Given the description of an element on the screen output the (x, y) to click on. 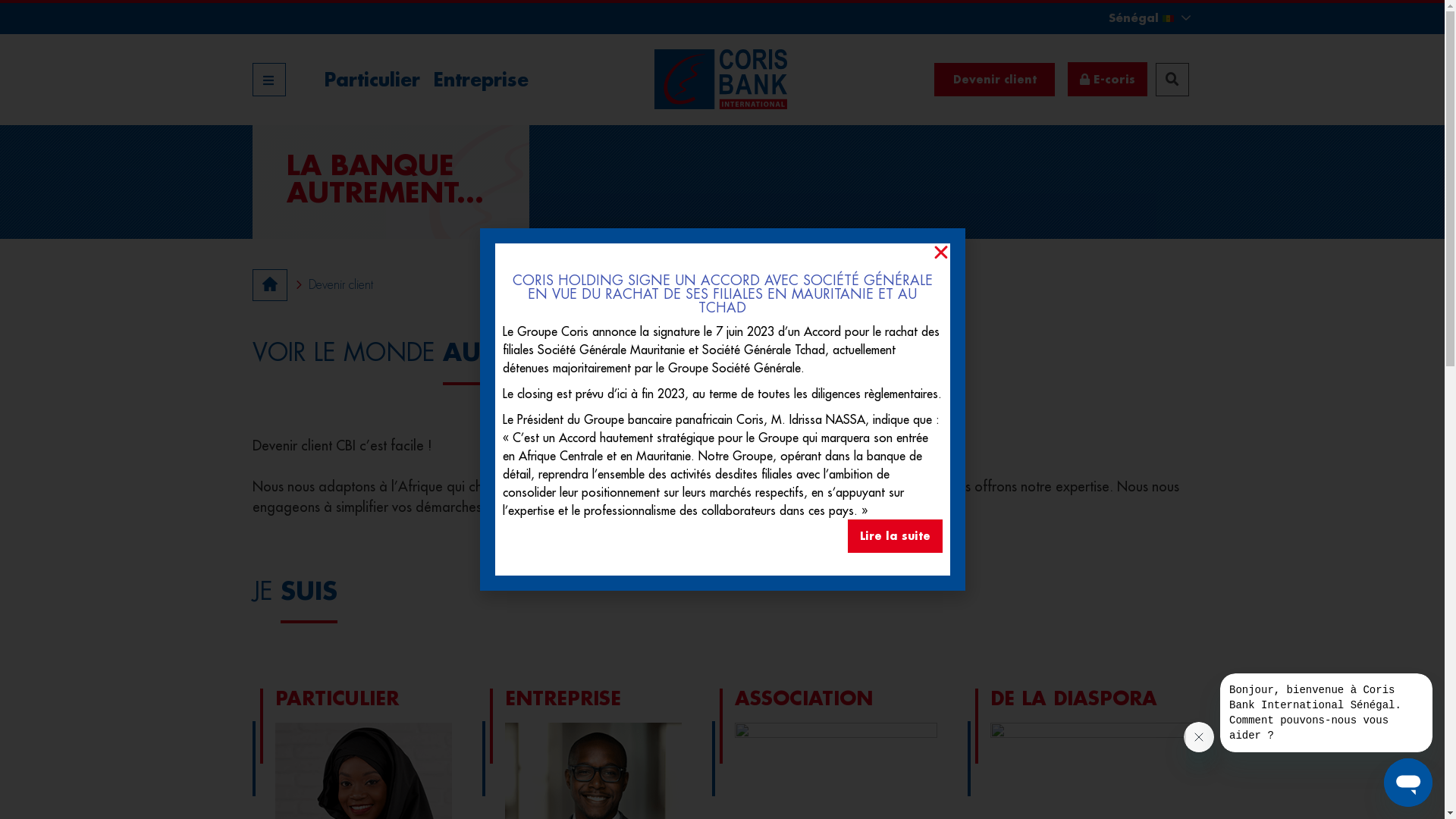
Lire la suite Element type: text (894, 535)
Close message Element type: hover (1198, 736)
Entreprise Element type: text (476, 79)
E-coris Element type: text (1107, 79)
Nos filiales Element type: text (40, 17)
Particulier Element type: text (367, 79)
Message from company Element type: hover (1326, 712)
Button to launch messaging window Element type: hover (1407, 782)
Devenir client Element type: text (994, 79)
